Given the description of an element on the screen output the (x, y) to click on. 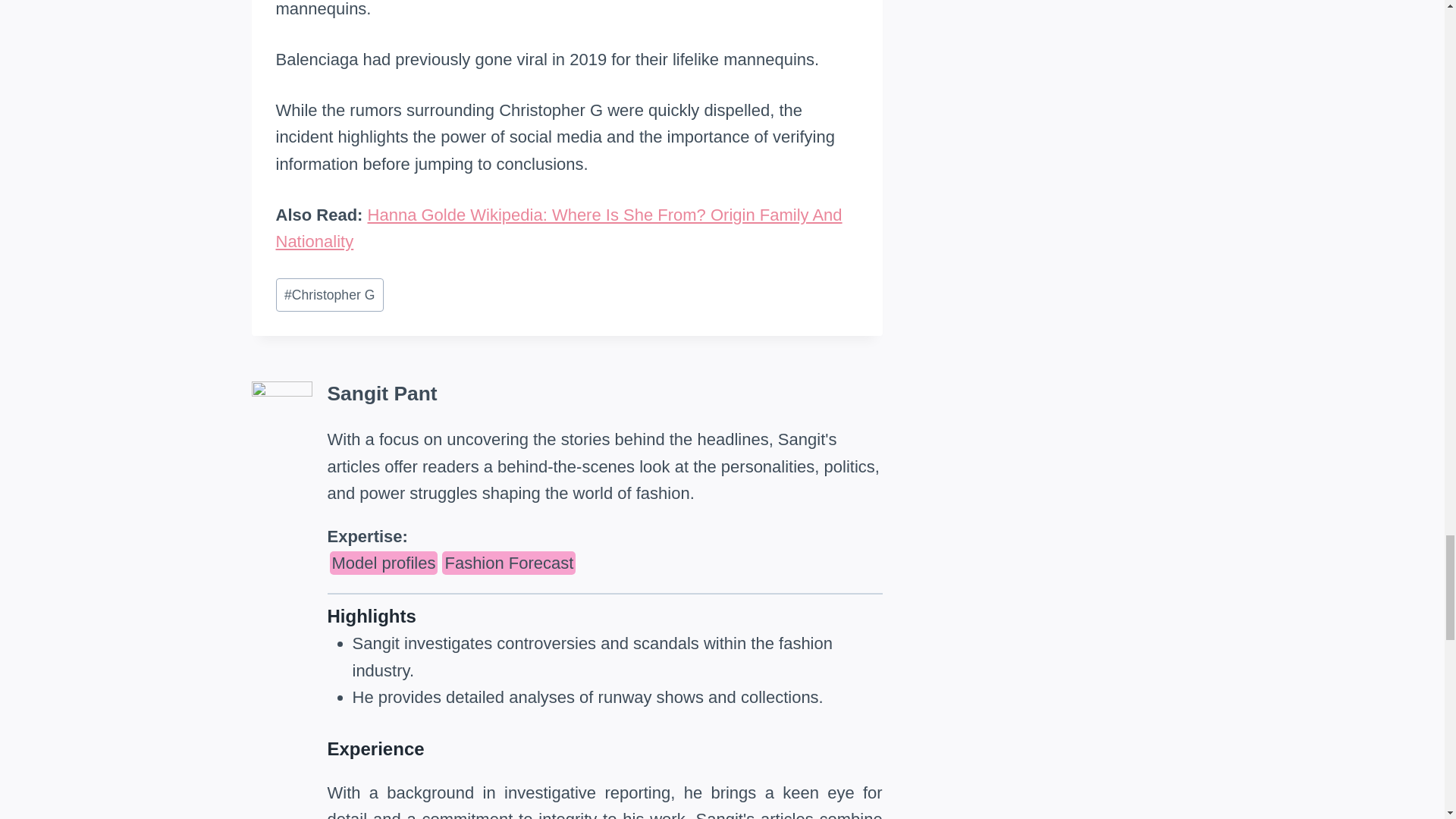
Sangit Pant (382, 393)
Christopher G (330, 295)
Posts by Sangit Pant (382, 393)
